Given the description of an element on the screen output the (x, y) to click on. 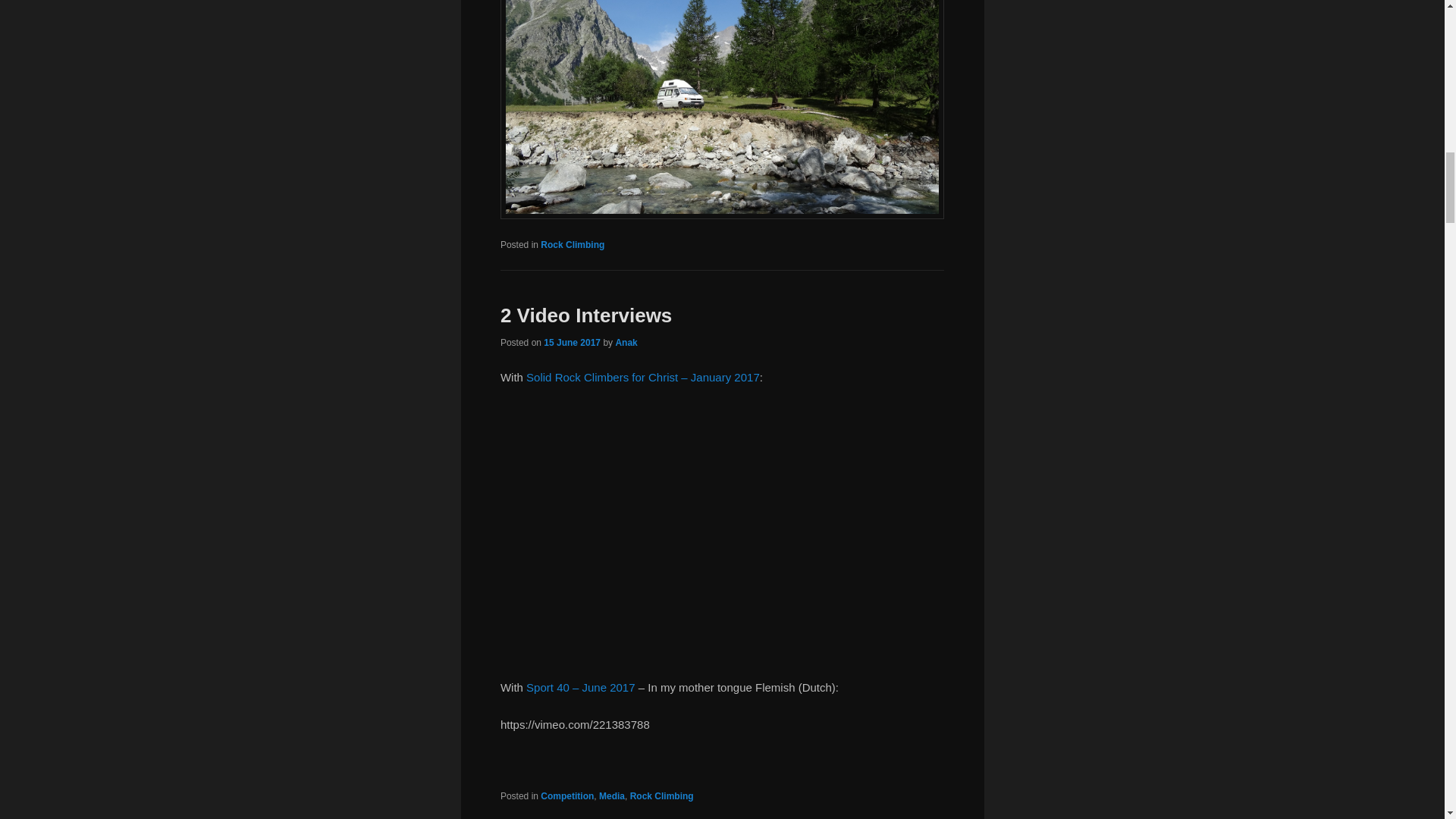
Rock Climbing (572, 244)
11:06 (571, 342)
View all posts by Anak (625, 342)
